Given the description of an element on the screen output the (x, y) to click on. 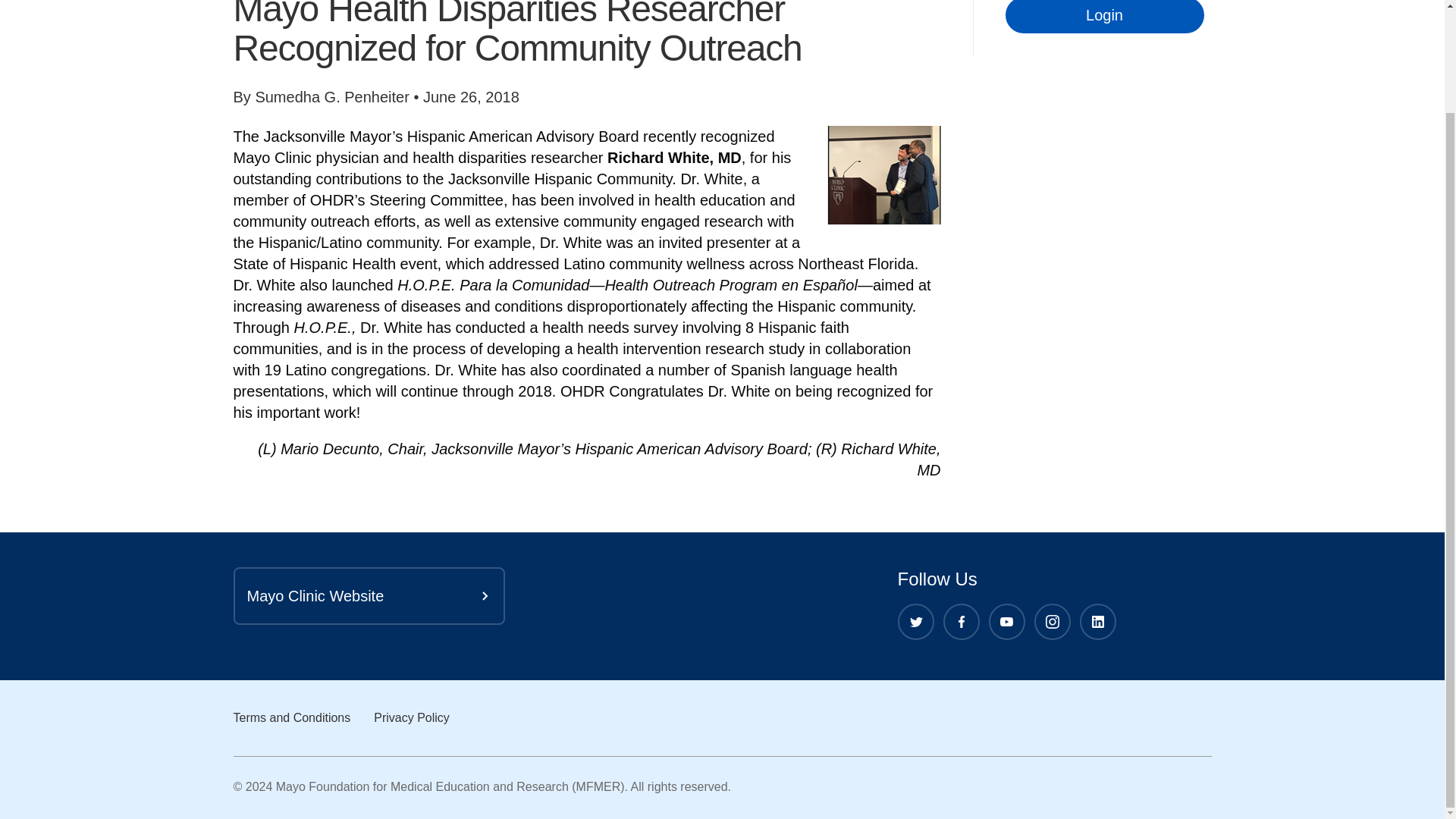
Mayo Clinic Website (368, 595)
Privacy Policy (411, 717)
Terms and Conditions (291, 717)
Login (1105, 16)
